Given the description of an element on the screen output the (x, y) to click on. 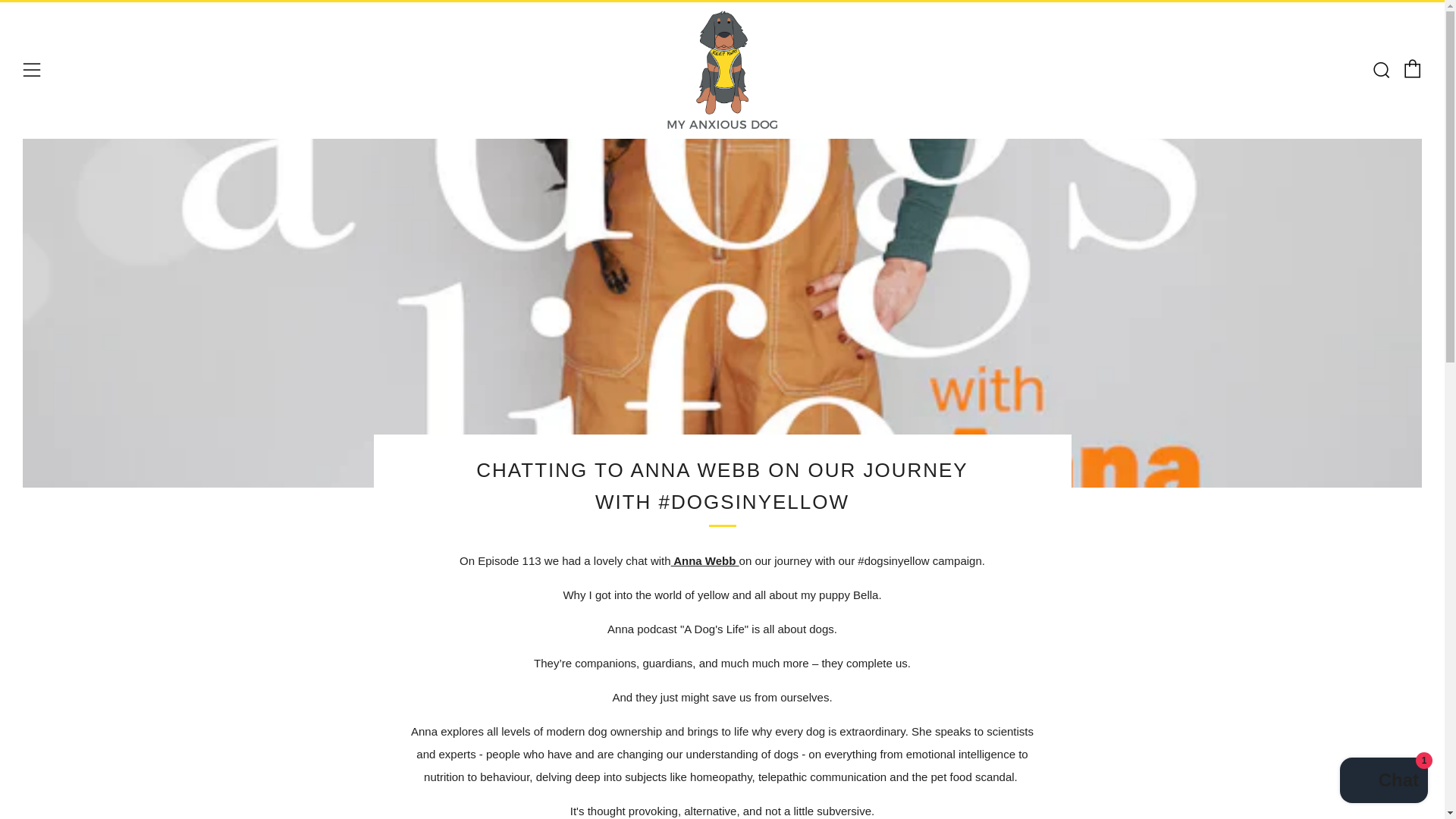
Menu (31, 70)
Shopify online store chat (1383, 781)
Cart (1412, 68)
Search (1380, 69)
